Given the description of an element on the screen output the (x, y) to click on. 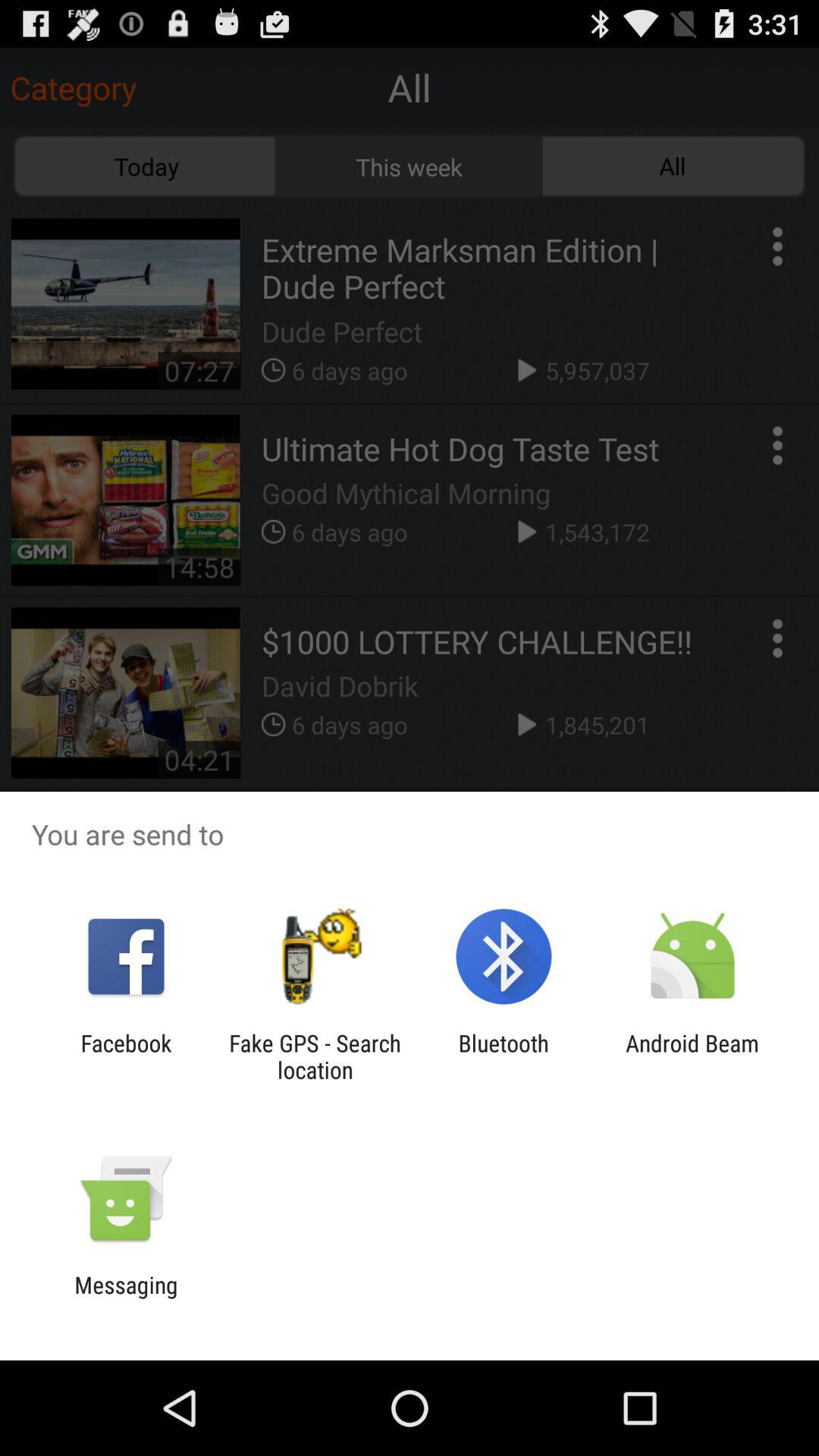
turn off the fake gps search icon (314, 1056)
